Given the description of an element on the screen output the (x, y) to click on. 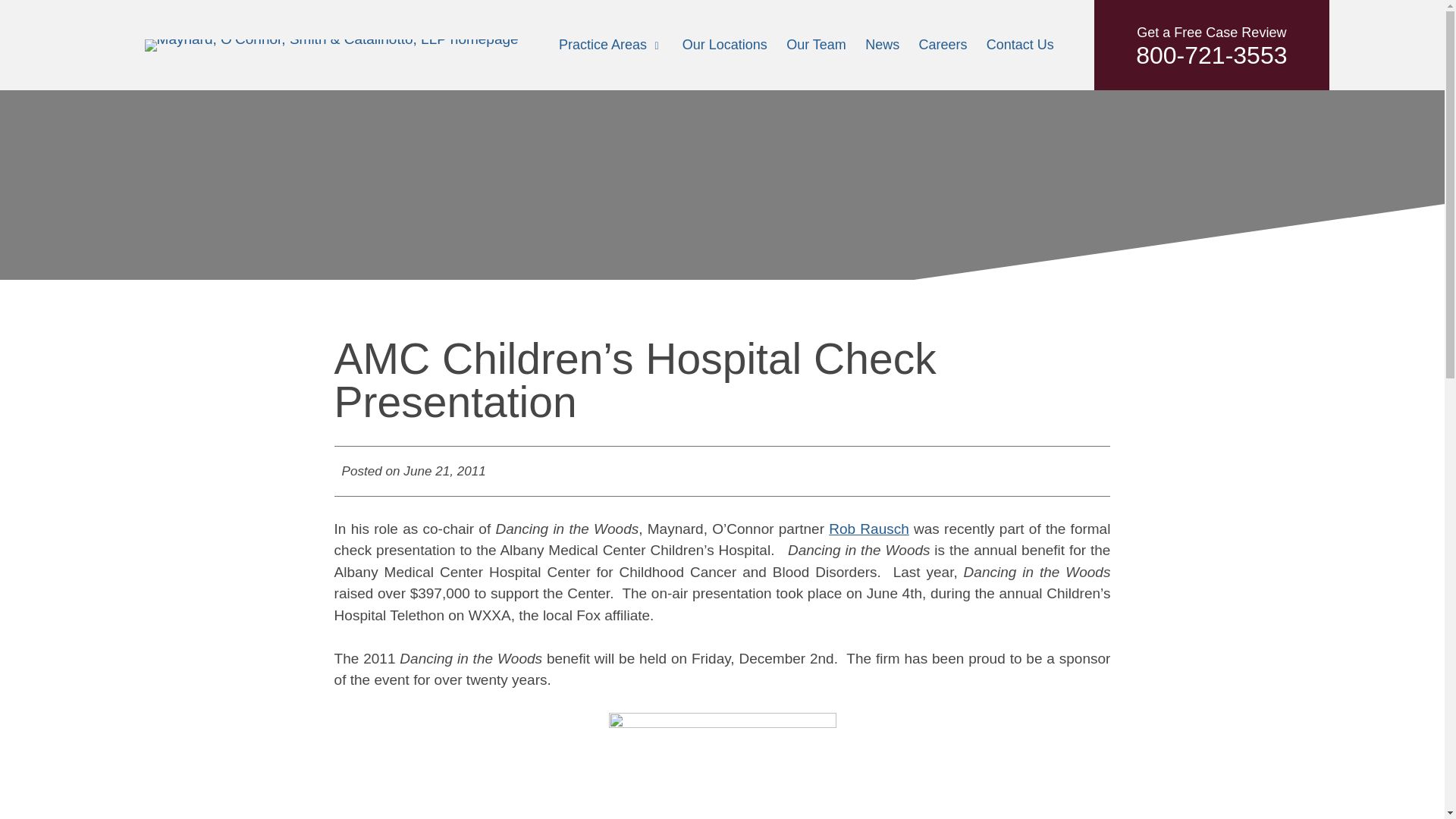
Our Team (815, 44)
Our Locations (724, 44)
Contact Us (1020, 44)
Practice Areas (602, 44)
show submenu for "Practice Areas" (656, 45)
Opens in a new window (868, 528)
Rob Rausch (1210, 45)
Careers (868, 528)
